Given the description of an element on the screen output the (x, y) to click on. 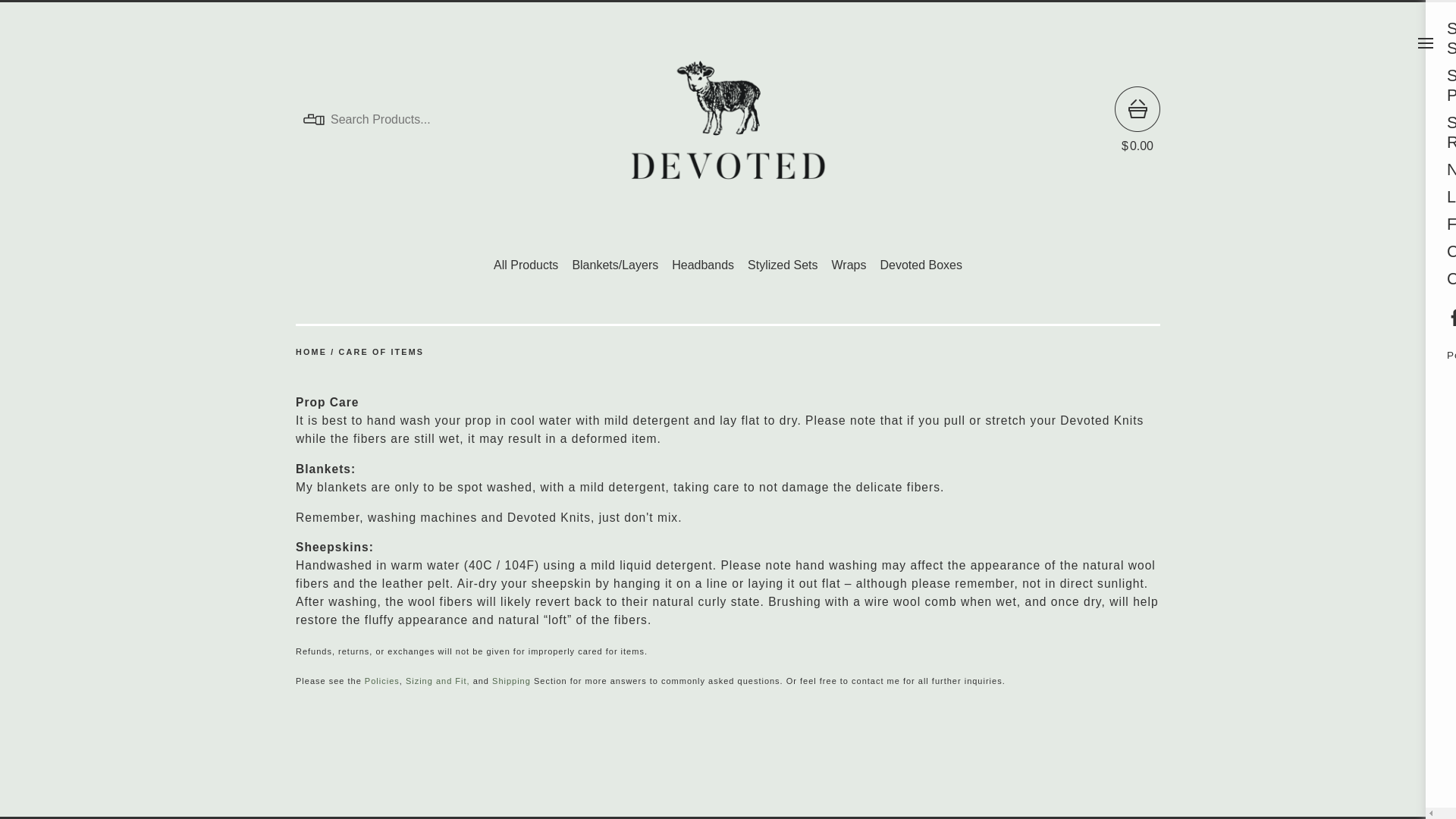
Home (310, 351)
Open menu (1425, 42)
Go (509, 119)
HOME (310, 351)
CARE OF ITEMS (382, 351)
Headbands (702, 265)
Stylized Sets (782, 265)
View Devoted Boxes (920, 265)
Wraps (848, 265)
View Wraps (848, 265)
